Given the description of an element on the screen output the (x, y) to click on. 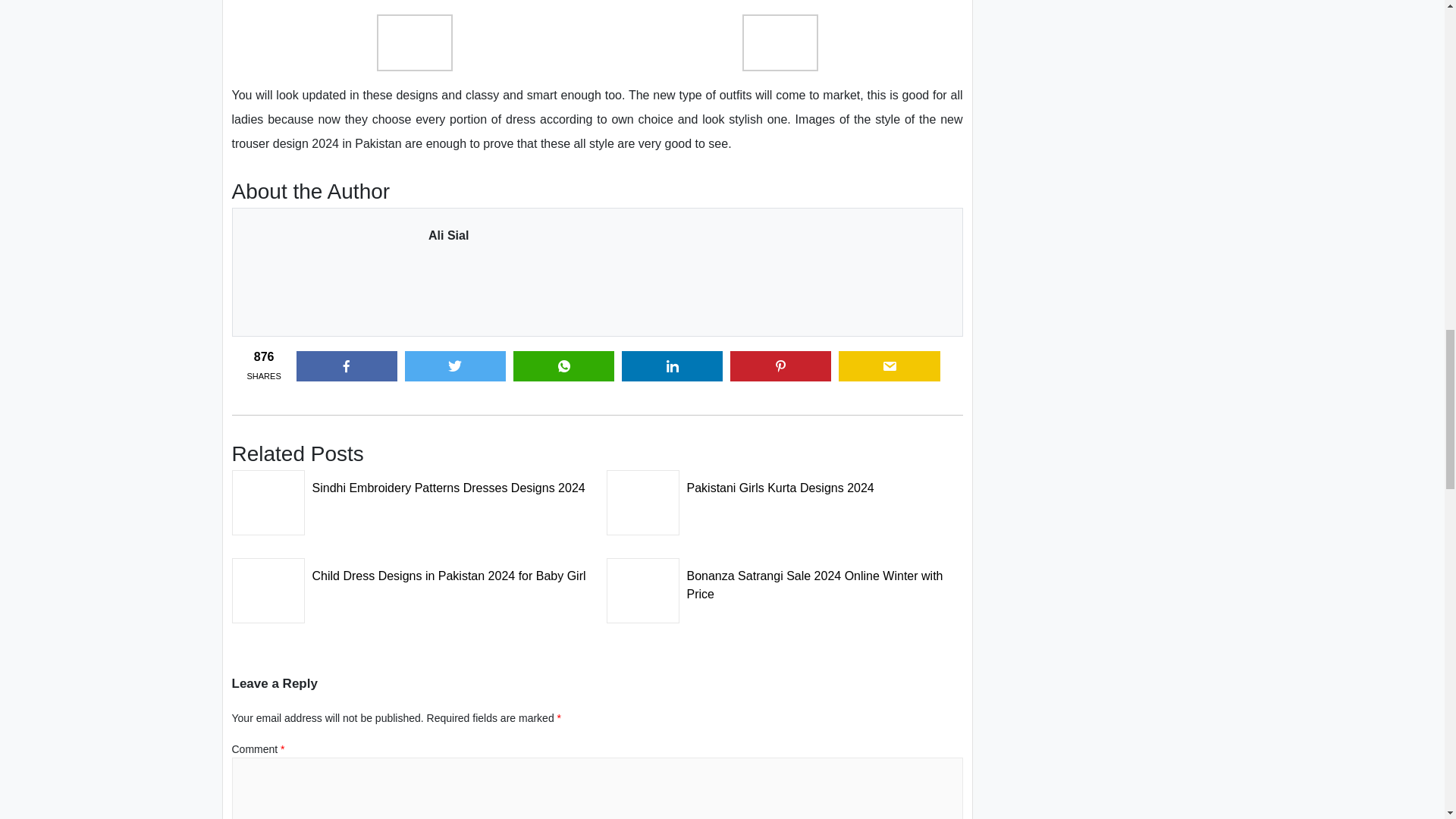
Sindhi Embroidery Patterns Dresses Designs 2024 (409, 483)
Bonanza Satrangi Sale 2024 Online Winter with Price (784, 580)
Child Dress Designs in Pakistan 2024 for Baby Girl (409, 571)
Pakistani Girls Kurta Designs 2024 (784, 483)
